Given the description of an element on the screen output the (x, y) to click on. 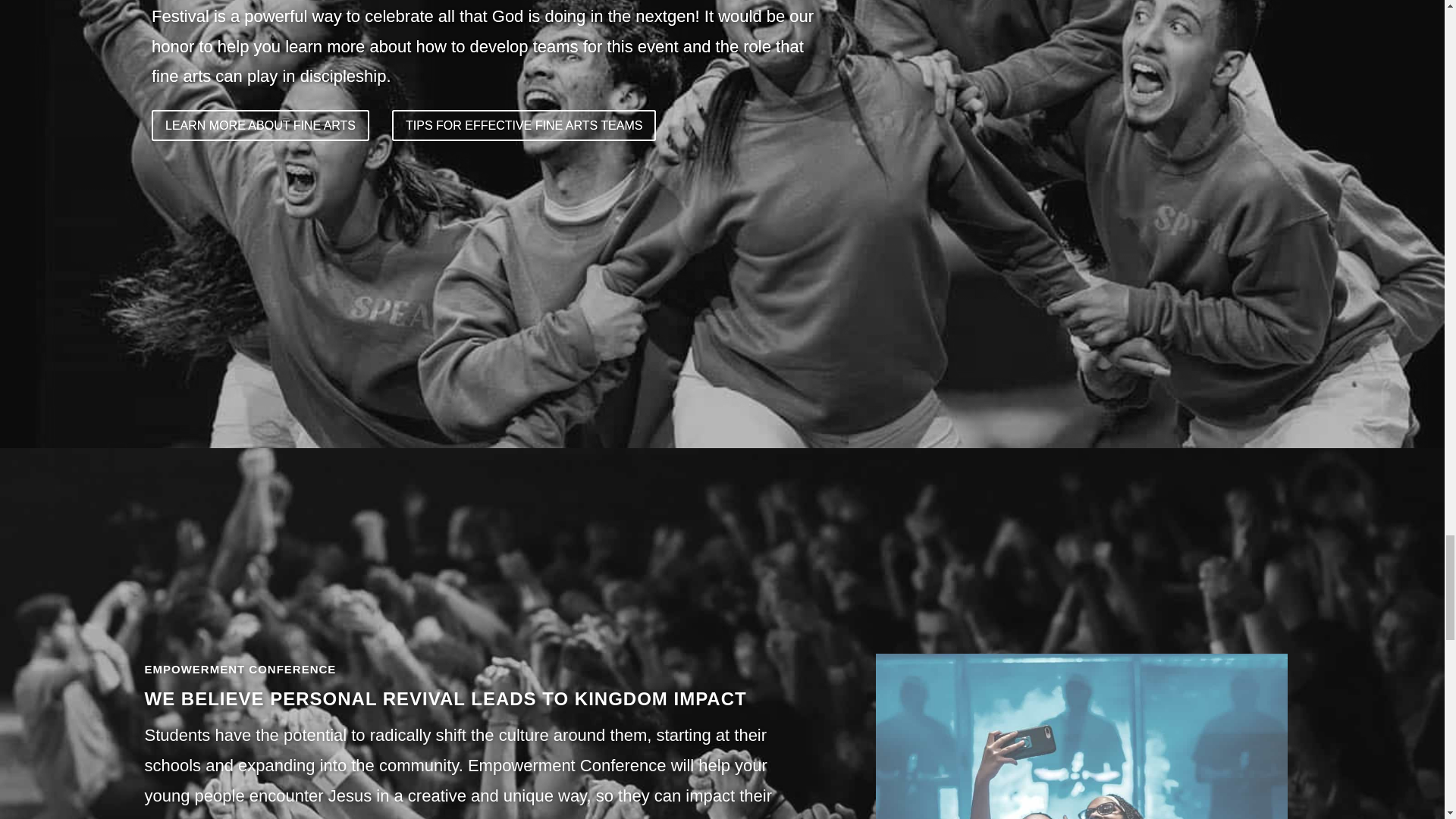
EDConf People (1081, 736)
